Given the description of an element on the screen output the (x, y) to click on. 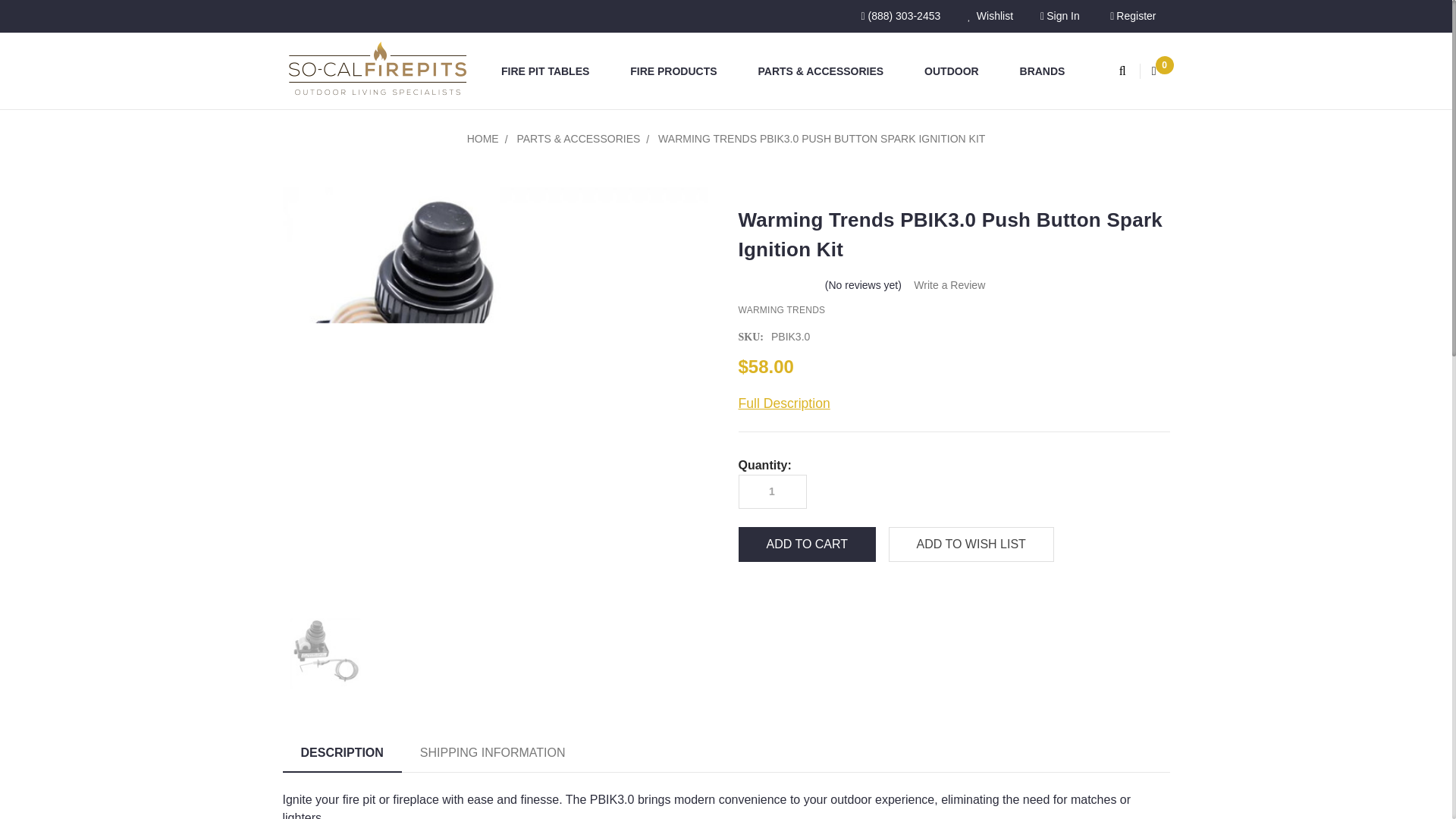
SoCal Fire Pits (376, 70)
Add to Wish list (971, 544)
FIRE PRODUCTS (679, 70)
Sign In (1059, 16)
Add to Cart (807, 544)
Wishlist (989, 16)
Register (1132, 16)
1 (771, 491)
Warming Trends PBIK3.0 Push Button Spark Ignition Kit (325, 653)
